Given the description of an element on the screen output the (x, y) to click on. 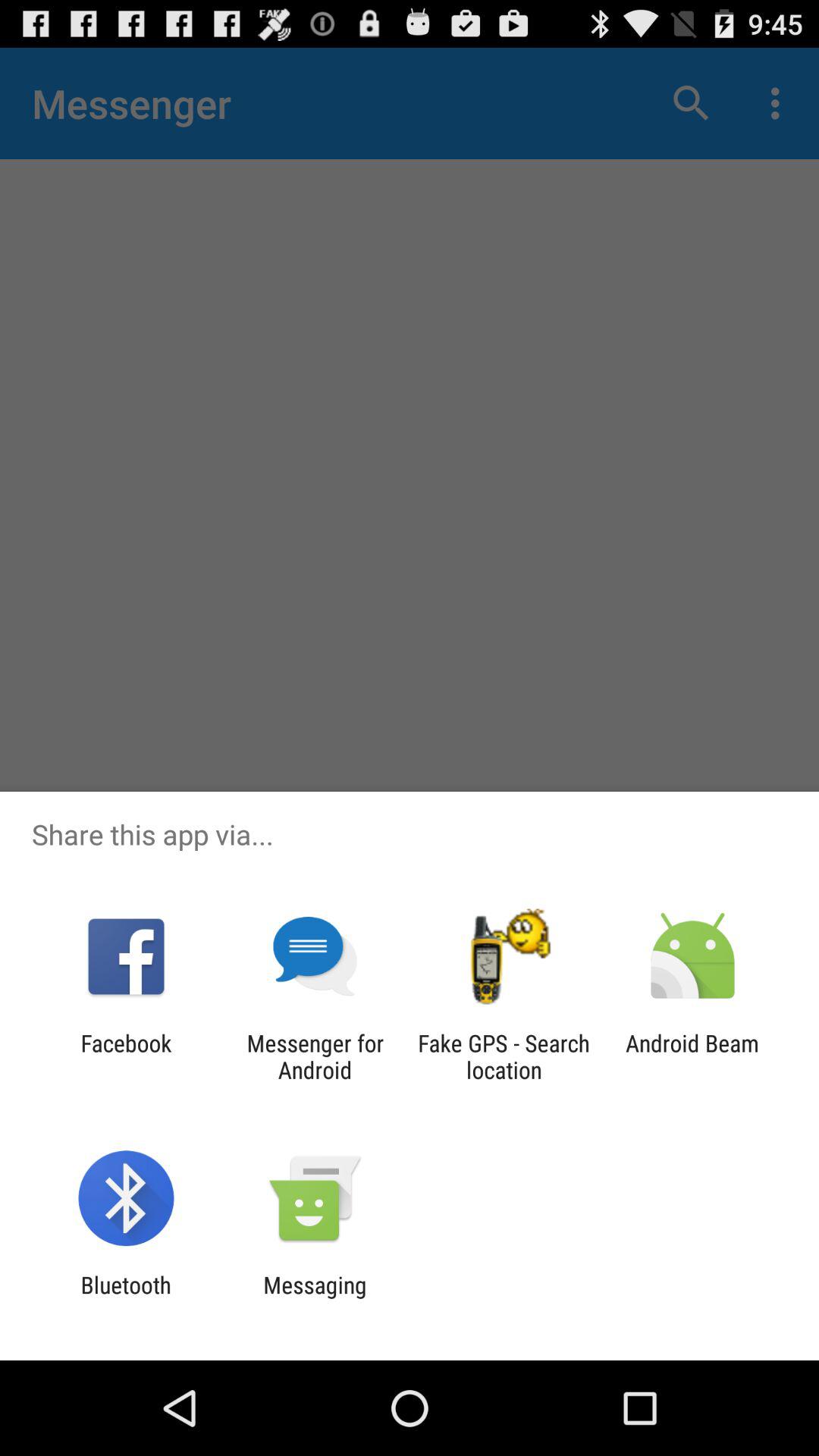
jump to the bluetooth app (125, 1298)
